Given the description of an element on the screen output the (x, y) to click on. 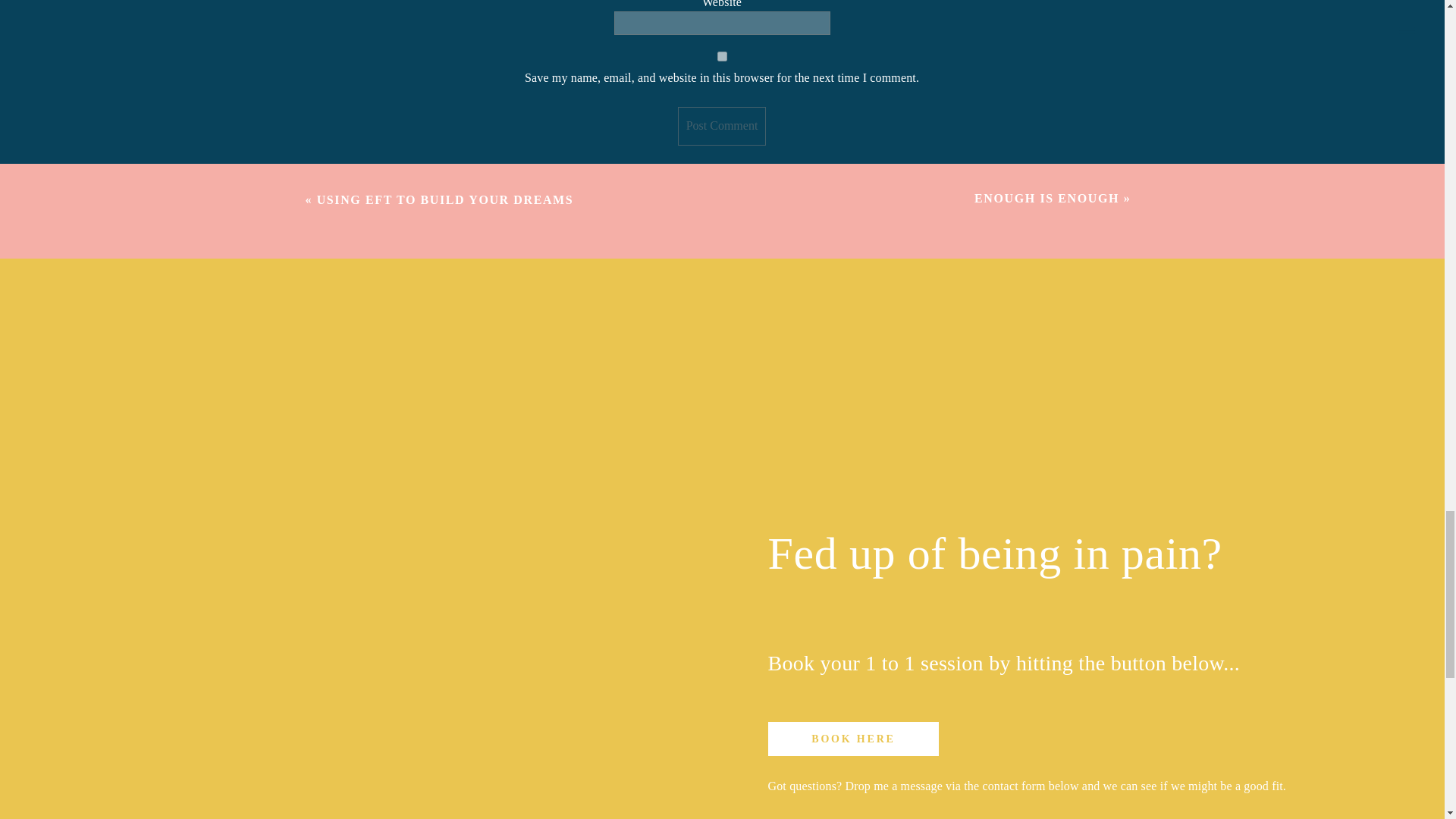
USING EFT TO BUILD YOUR DREAMS (445, 199)
Post Comment (722, 126)
Post Comment (722, 126)
BOOK HERE (853, 739)
ENOUGH IS ENOUGH (1046, 197)
yes (721, 56)
